Given the description of an element on the screen output the (x, y) to click on. 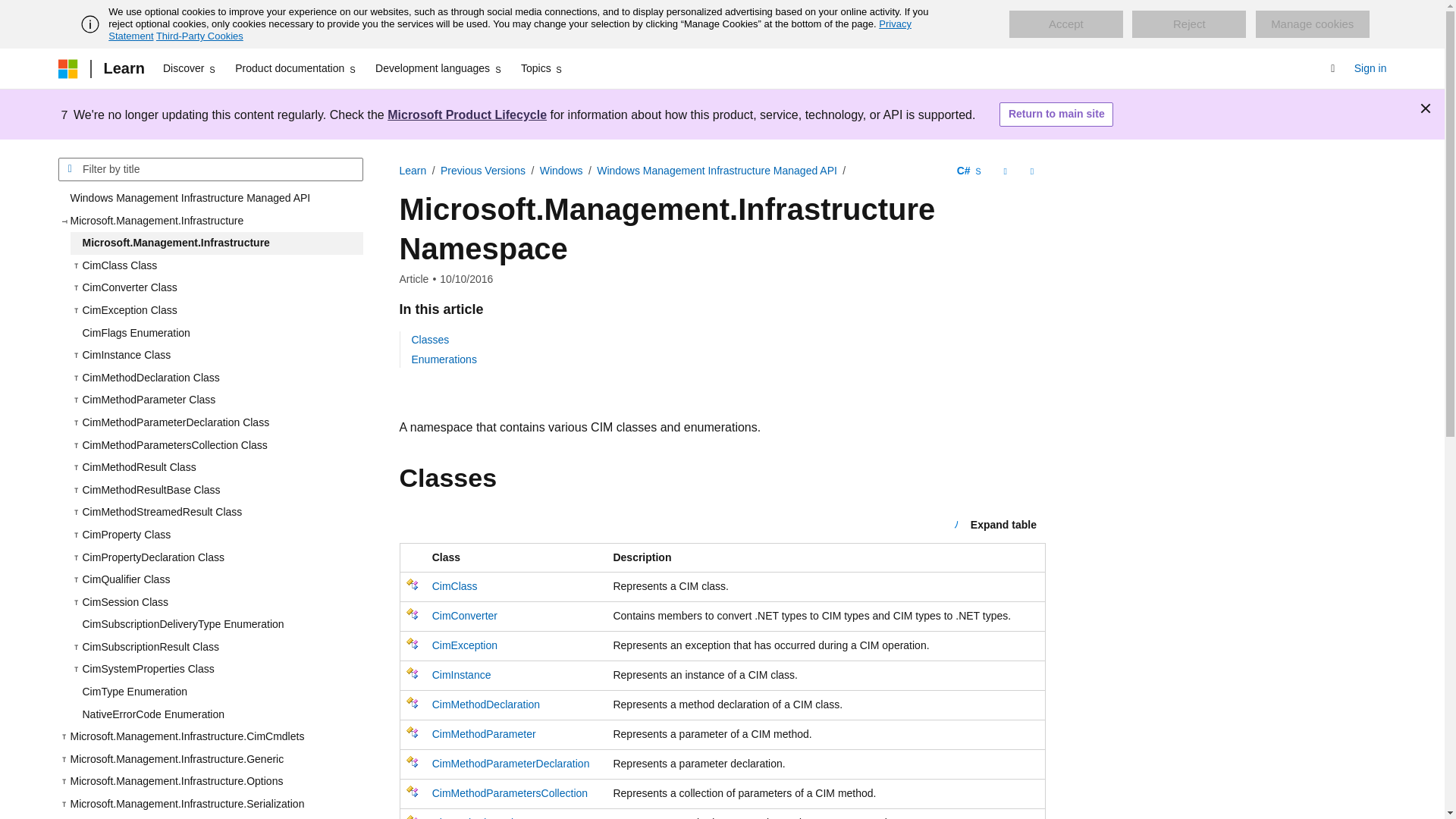
Accept (1065, 23)
Language (969, 170)
Development languages (438, 68)
Learn (123, 68)
Microsoft Product Lifecycle (467, 114)
Third-Party Cookies (199, 35)
CimFlags Enumeration (215, 333)
Windows Management Infrastructure Managed API (716, 170)
Return to main site (1055, 114)
Sign in (1370, 68)
Dismiss alert (1425, 108)
Windows Management Infrastructure Managed API (210, 198)
Windows (561, 170)
Discover (189, 68)
Microsoft.Management.Infrastructure (215, 242)
